Given the description of an element on the screen output the (x, y) to click on. 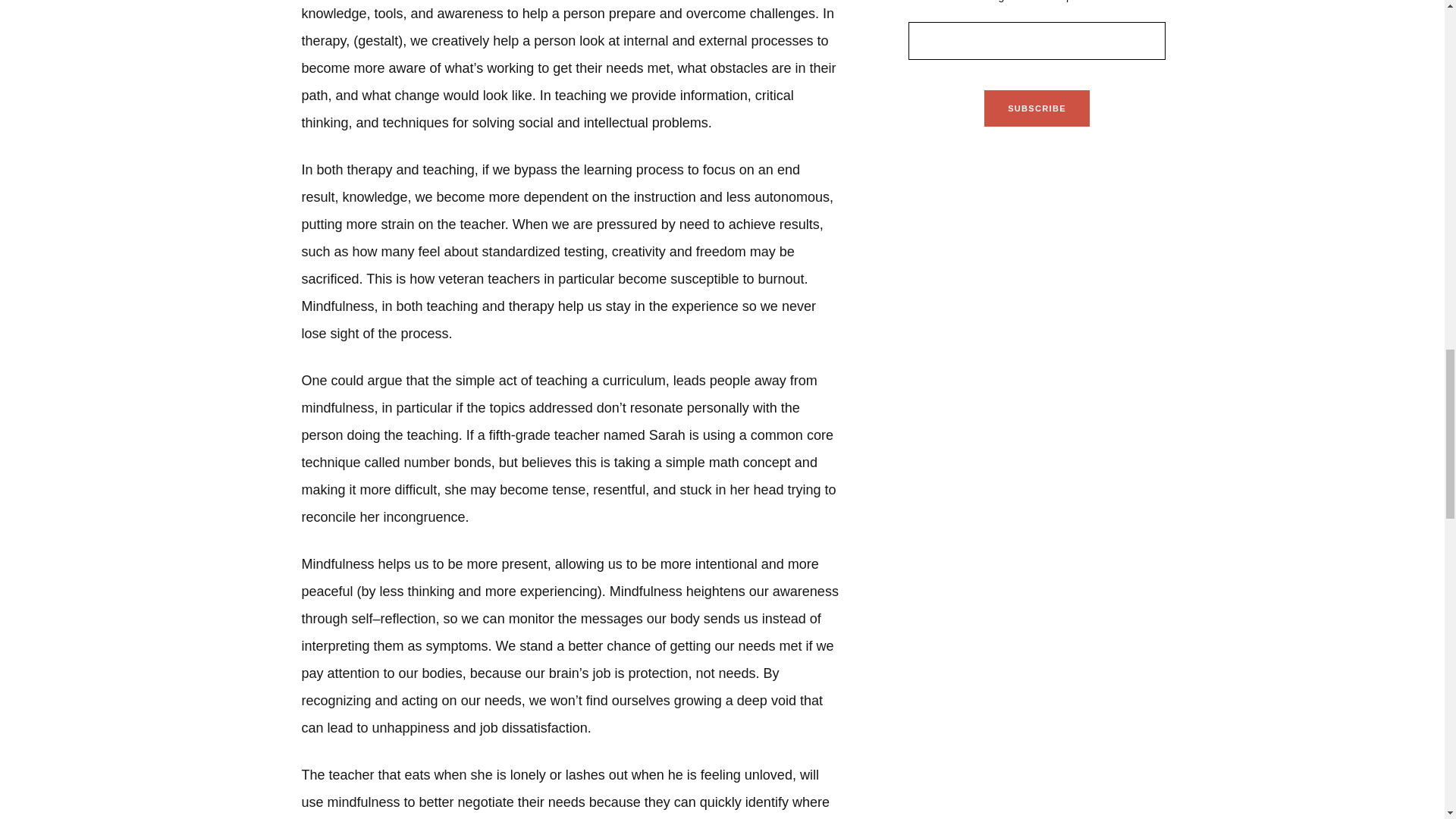
Subscribe (1036, 108)
